Given the description of an element on the screen output the (x, y) to click on. 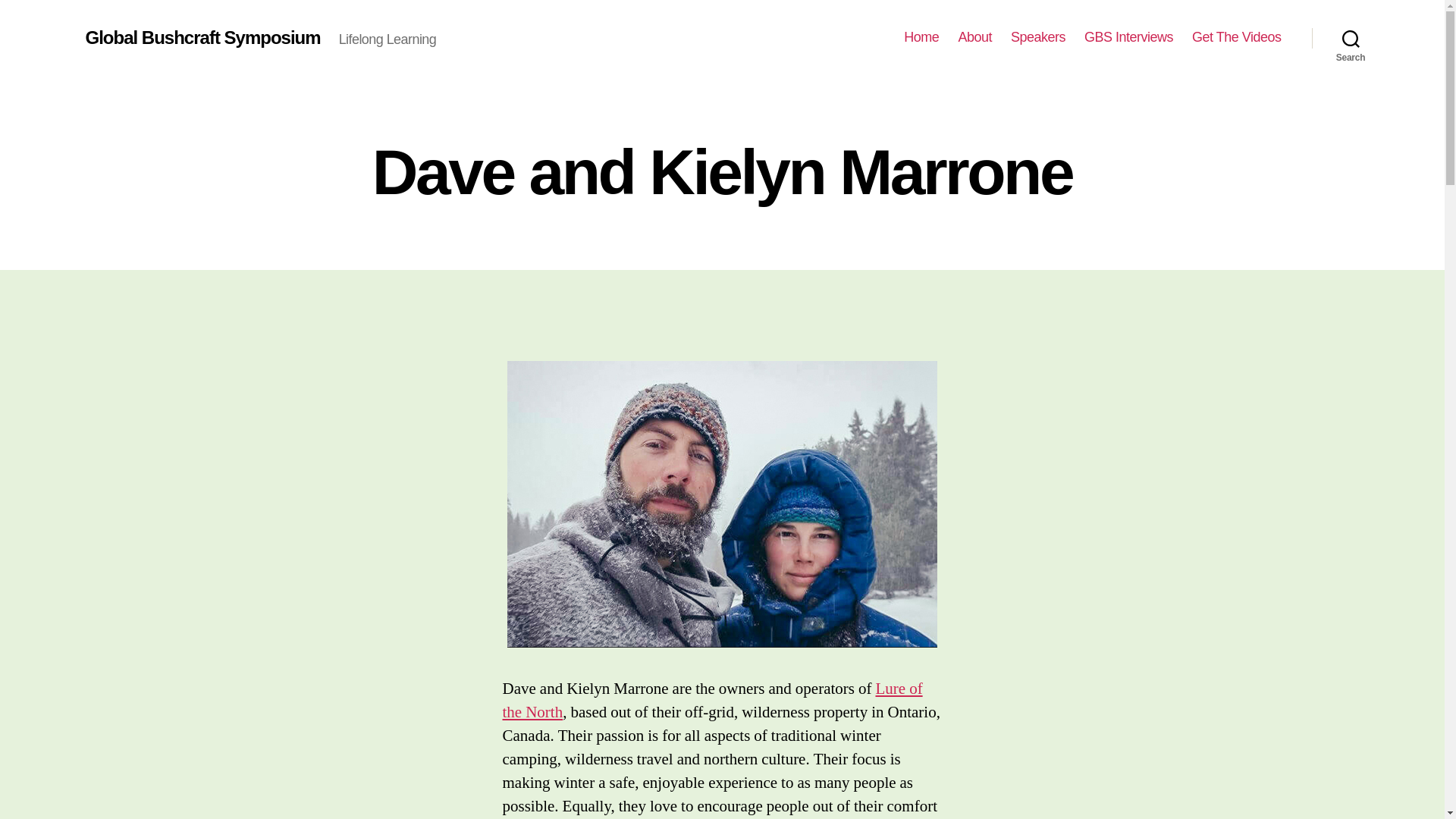
Lure of the North (711, 700)
About (974, 37)
Speakers (1037, 37)
Global Bushcraft Symposium (202, 37)
Get The Videos (1236, 37)
Search (1350, 37)
GBS Interviews (1128, 37)
Home (921, 37)
